Given the description of an element on the screen output the (x, y) to click on. 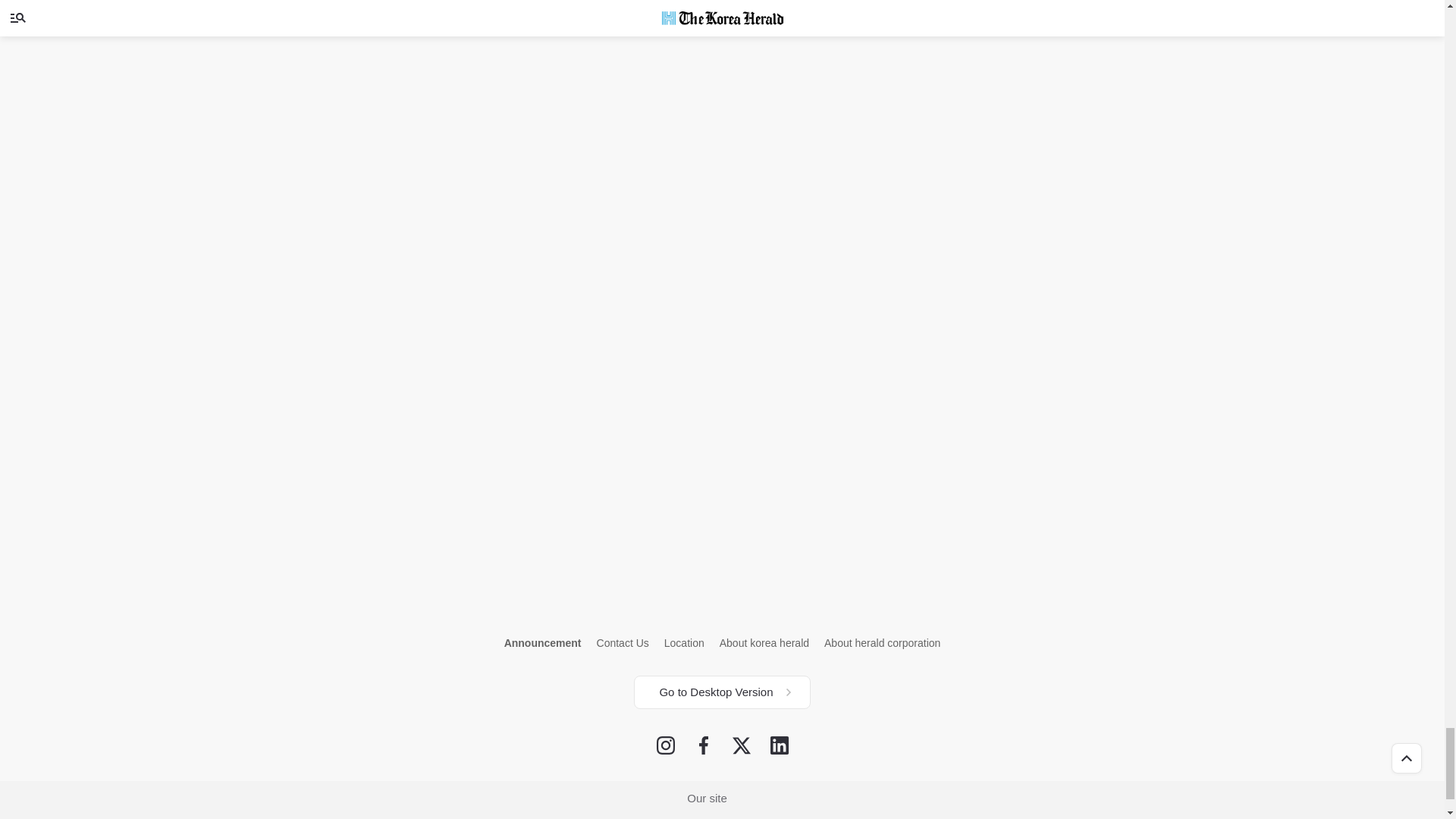
Facebook (703, 745)
Instagram (665, 745)
LinkedIn (779, 745)
Twitter (741, 745)
